Given the description of an element on the screen output the (x, y) to click on. 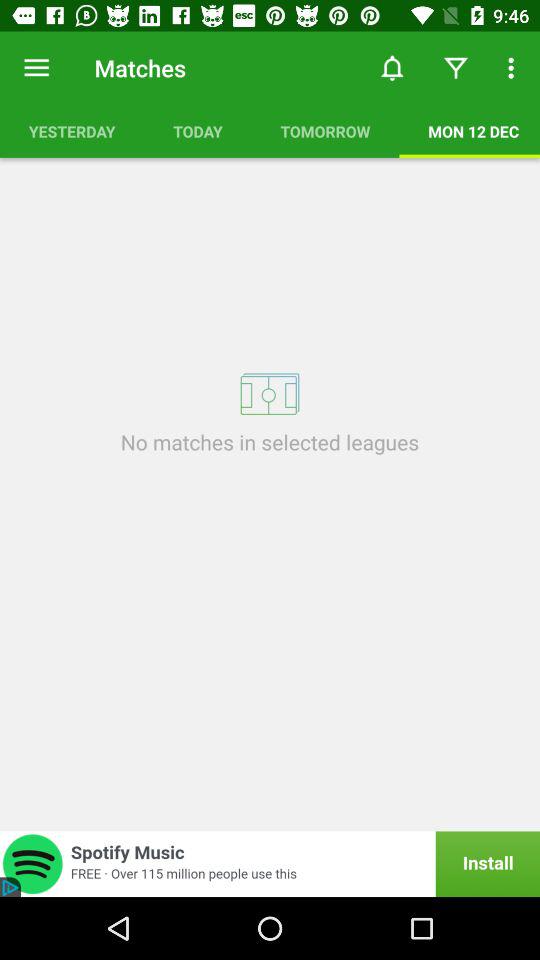
choose icon below no matches in icon (270, 863)
